Given the description of an element on the screen output the (x, y) to click on. 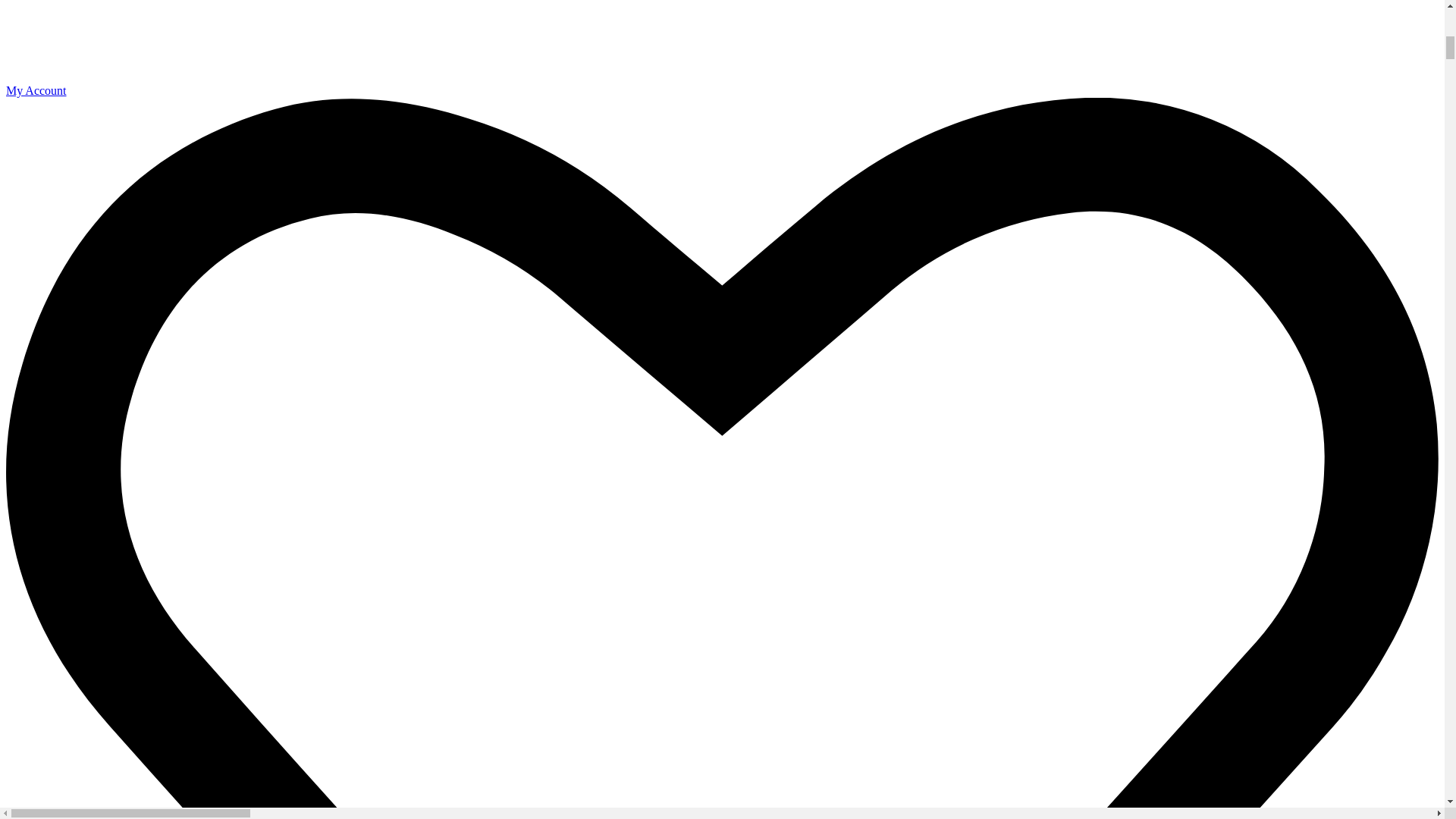
My Account (721, 83)
My Account (721, 83)
